Given the description of an element on the screen output the (x, y) to click on. 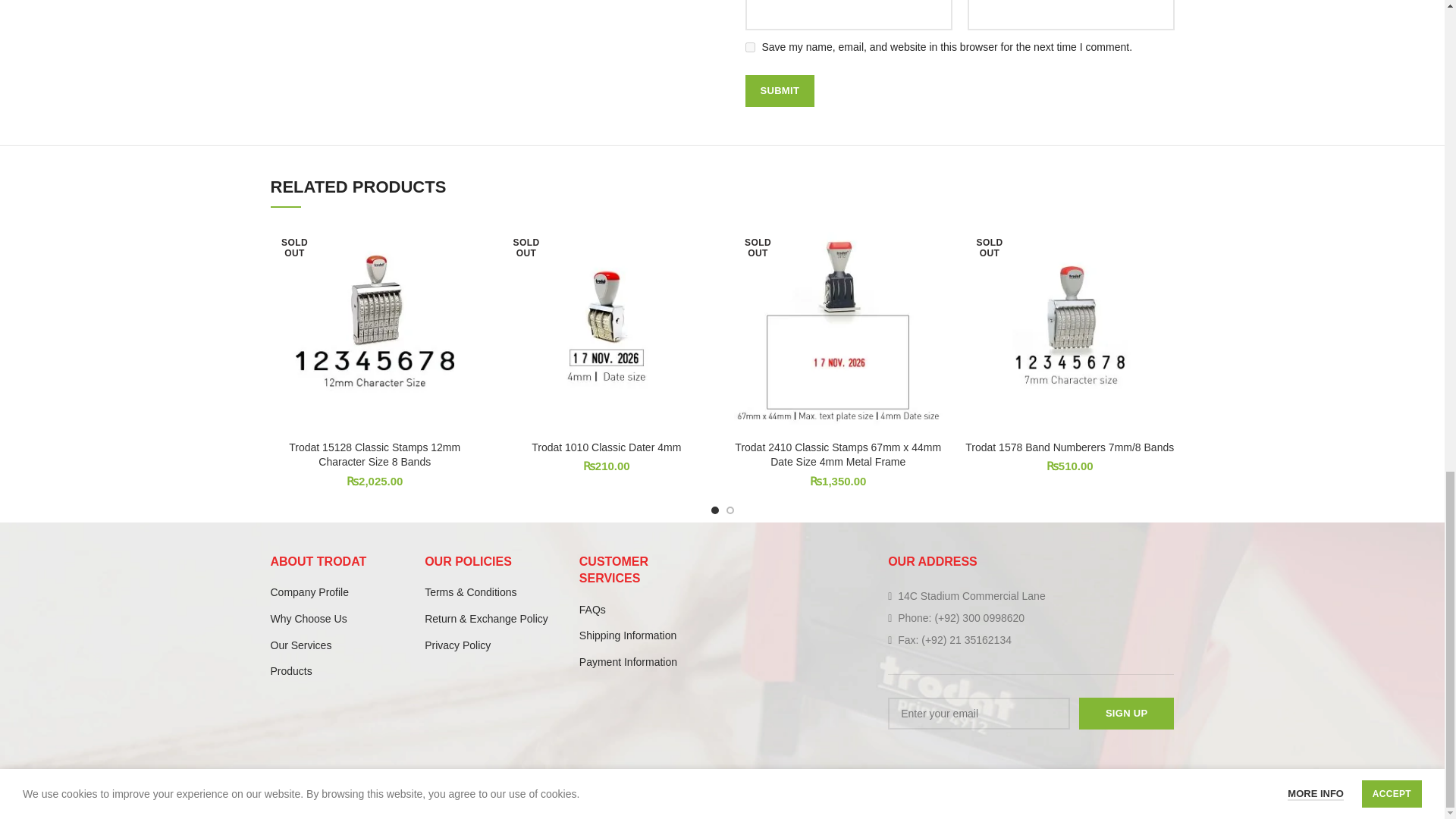
Submit (778, 91)
yes (749, 47)
Sign up (1126, 713)
